Given the description of an element on the screen output the (x, y) to click on. 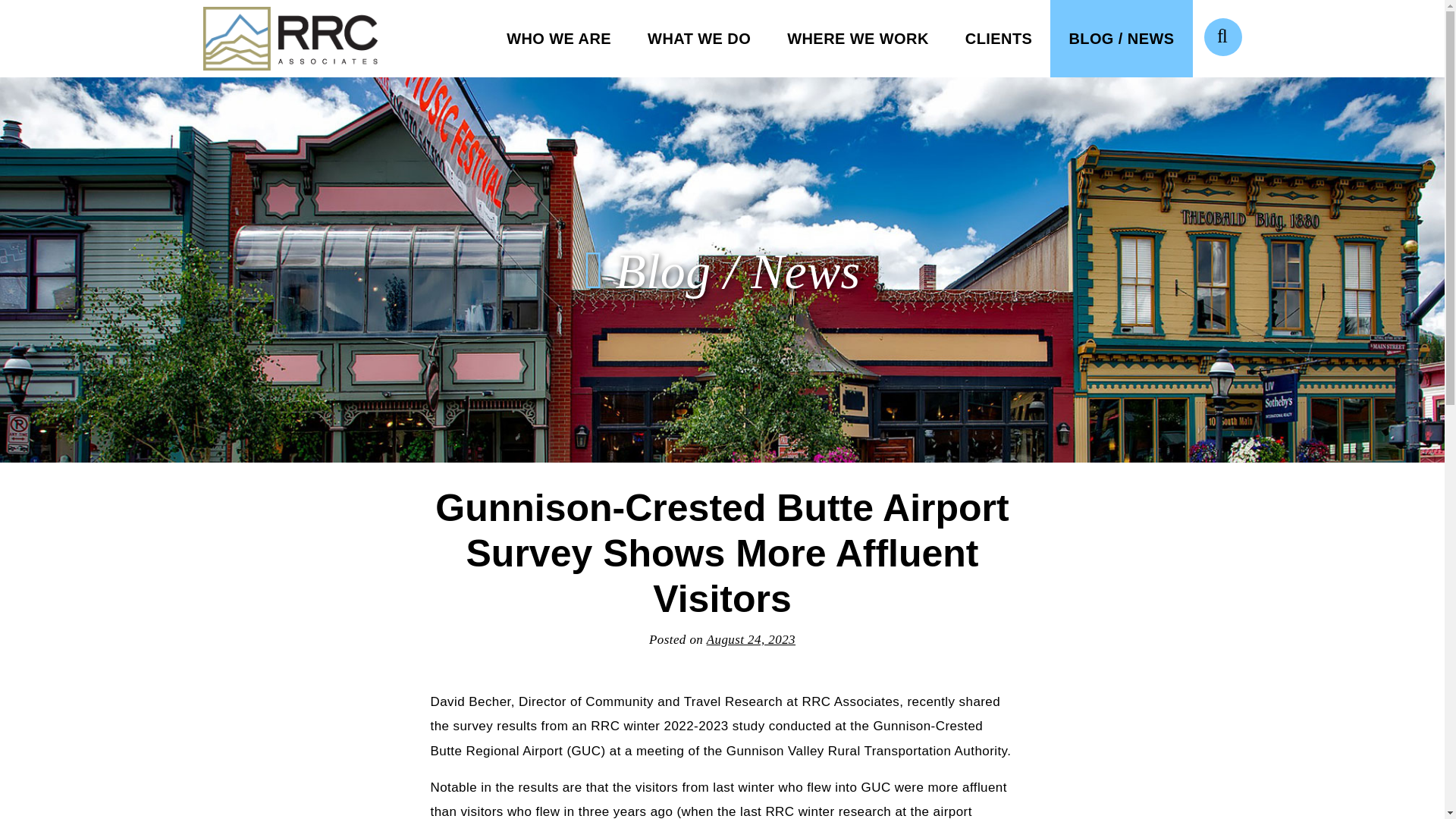
Where We Work (857, 38)
WHERE WE WORK (857, 38)
What We Do (698, 38)
RRC Associates (290, 38)
August 24, 2023 (750, 639)
Who We Are (557, 38)
WHO WE ARE (557, 38)
Search (1222, 37)
CLIENTS (999, 38)
WHAT WE DO (698, 38)
